Given the description of an element on the screen output the (x, y) to click on. 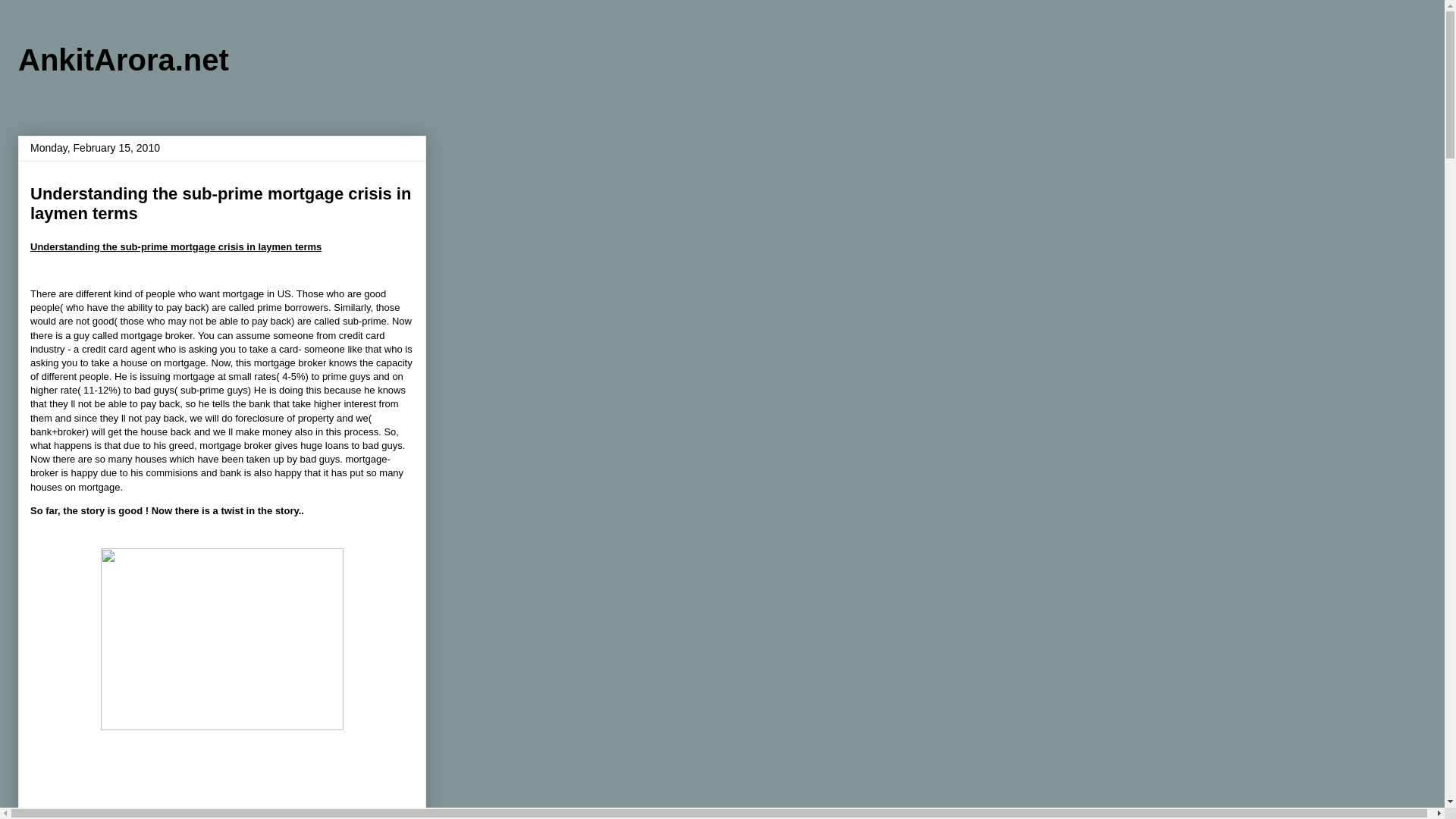
AnkitArora.net (122, 59)
